Given the description of an element on the screen output the (x, y) to click on. 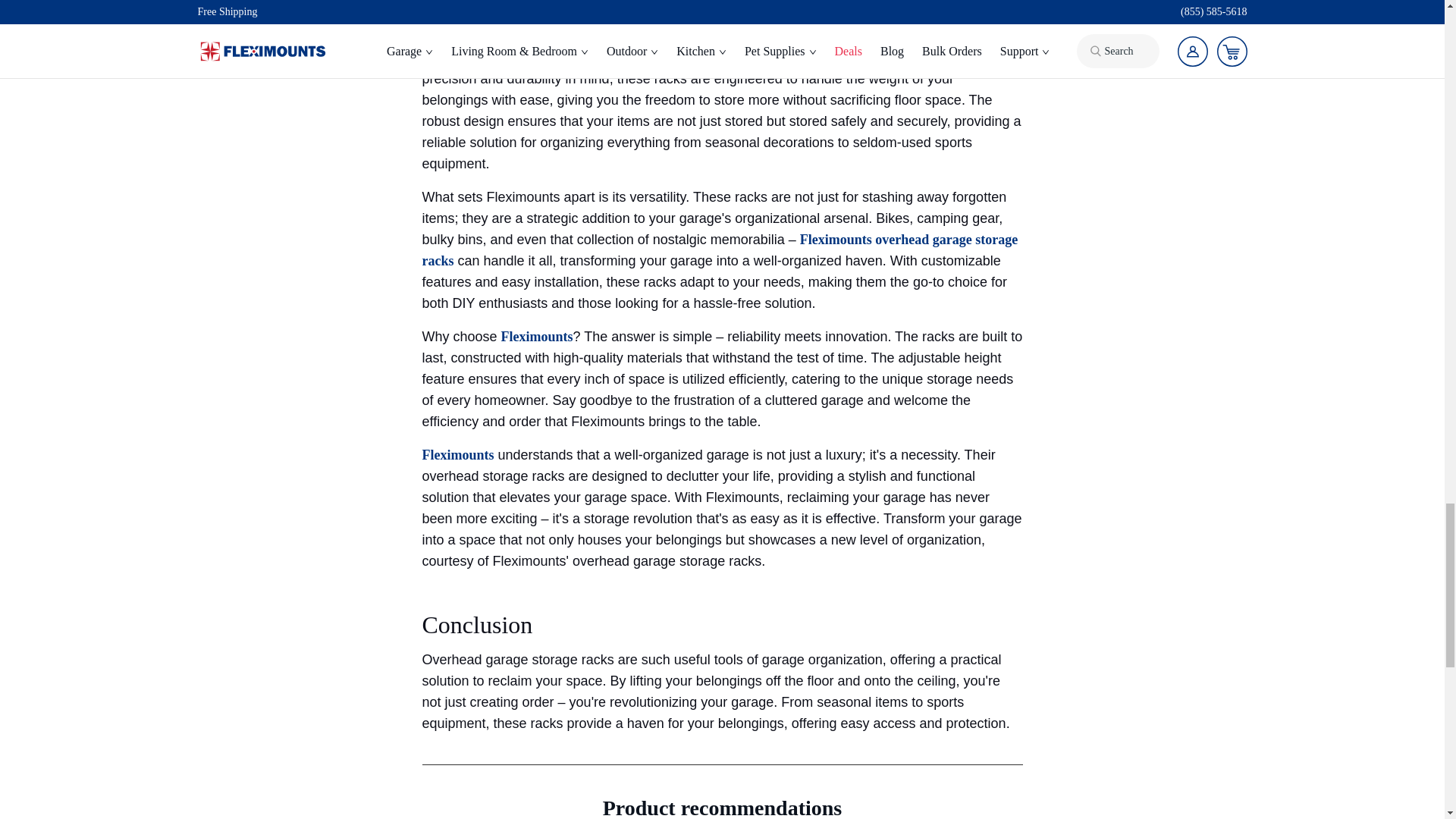
Fleximounts overhead garage storage racks (719, 249)
Fleximounts' overhead garage storage rack (547, 57)
Fleximounts (536, 336)
Fleximounts (457, 454)
